Given the description of an element on the screen output the (x, y) to click on. 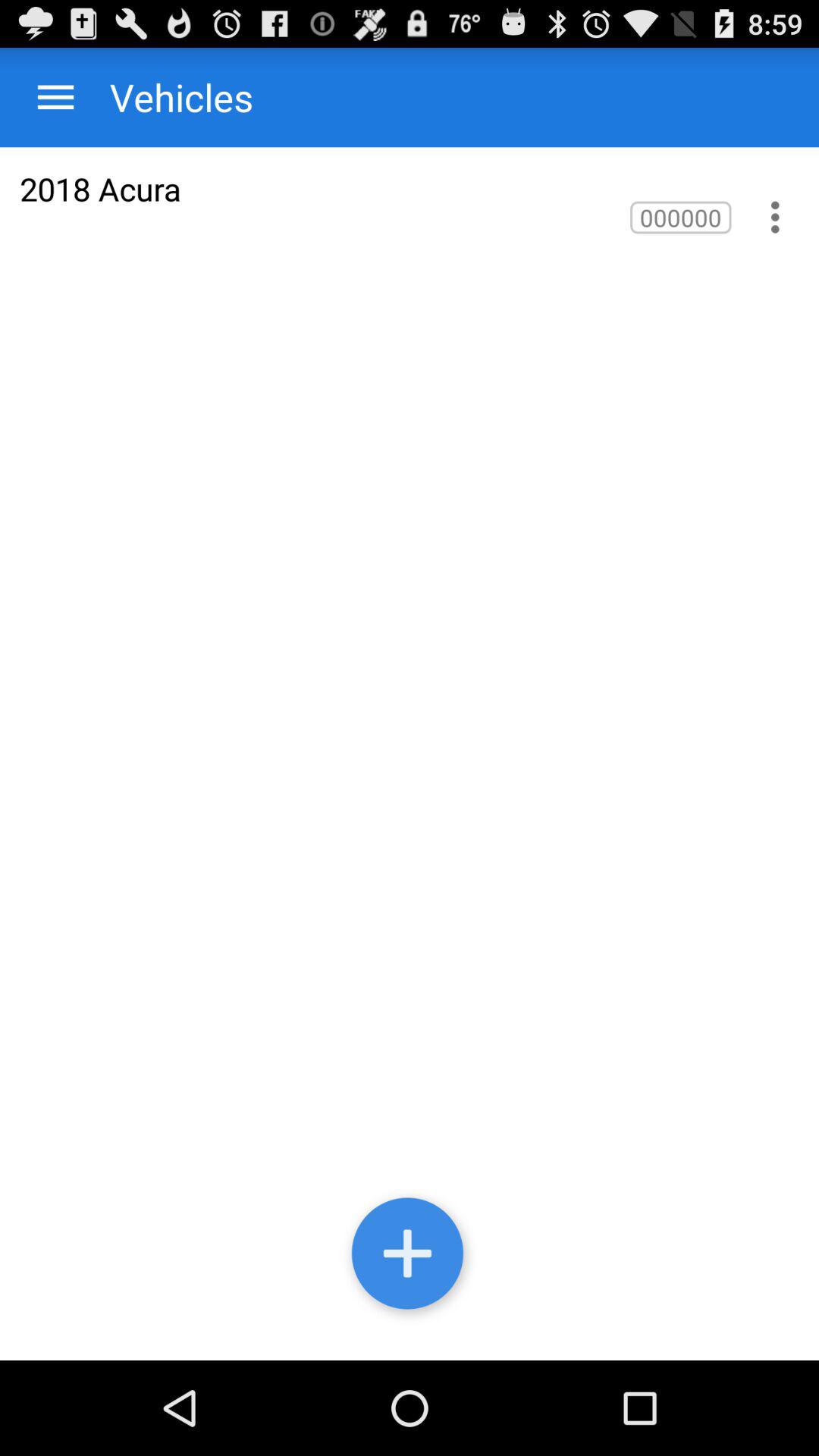
press the item to the right of the 2018 acura app (680, 217)
